Given the description of an element on the screen output the (x, y) to click on. 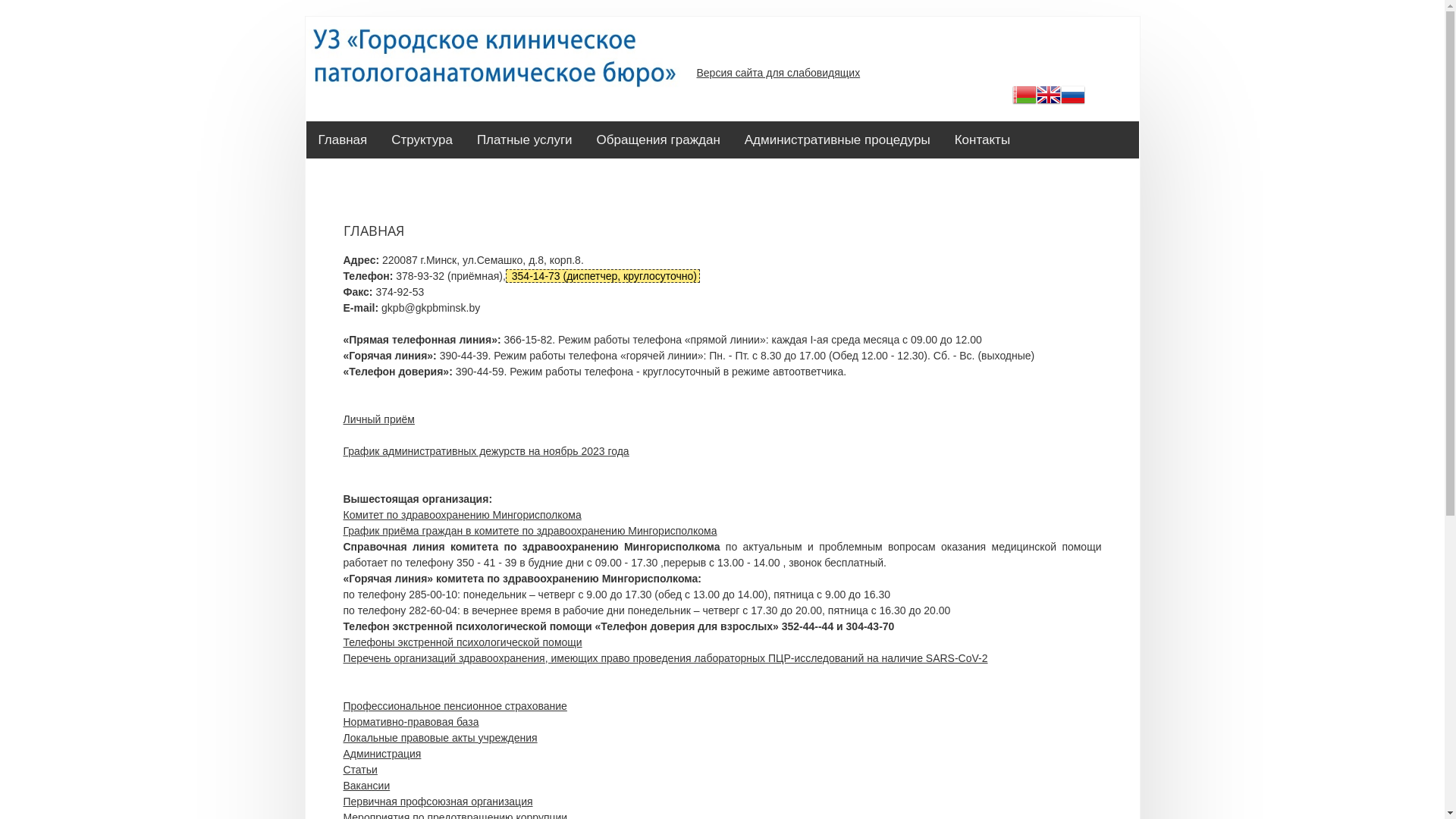
Russian Element type: hover (1072, 96)
English Element type: hover (1048, 96)
Belarusian Element type: hover (1024, 96)
